Given the description of an element on the screen output the (x, y) to click on. 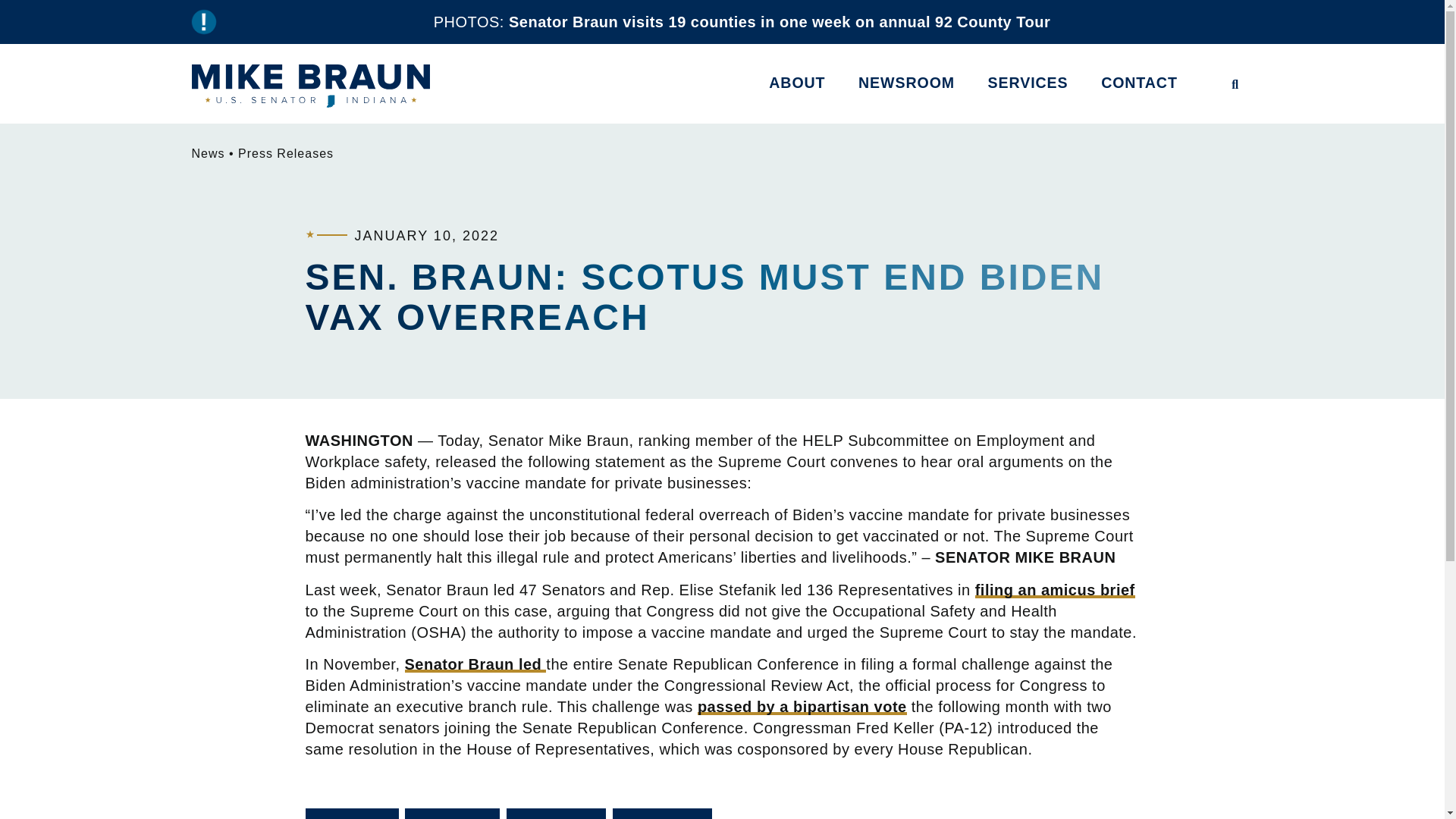
News (207, 153)
CONTACT (1139, 82)
filing an amicus brief (1055, 589)
Press Releases (285, 153)
OPEN SEARCH (1234, 84)
ABOUT (796, 82)
SERVICES (1027, 82)
NEWSROOM (906, 82)
